Given the description of an element on the screen output the (x, y) to click on. 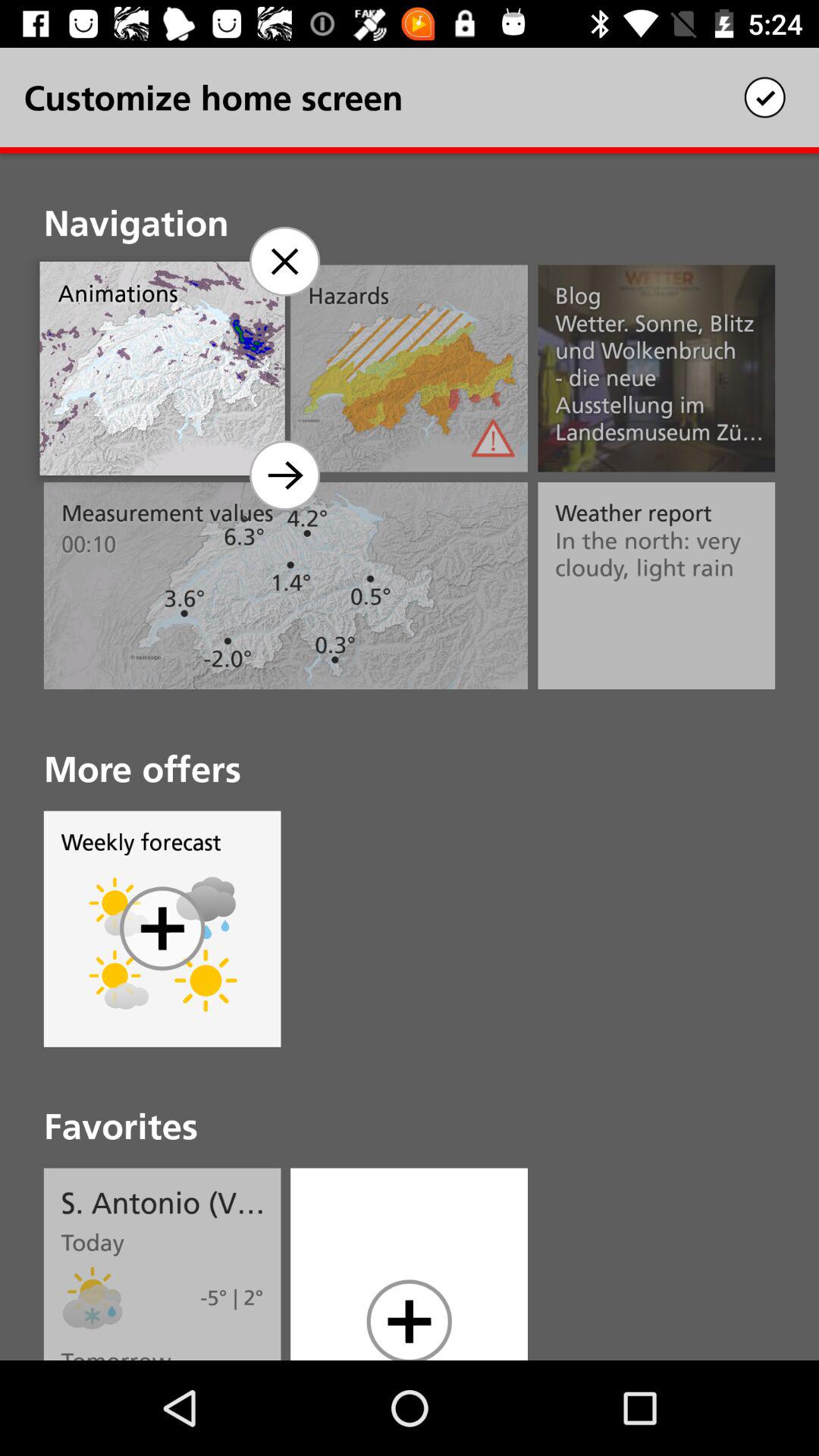
go forward (284, 475)
